Given the description of an element on the screen output the (x, y) to click on. 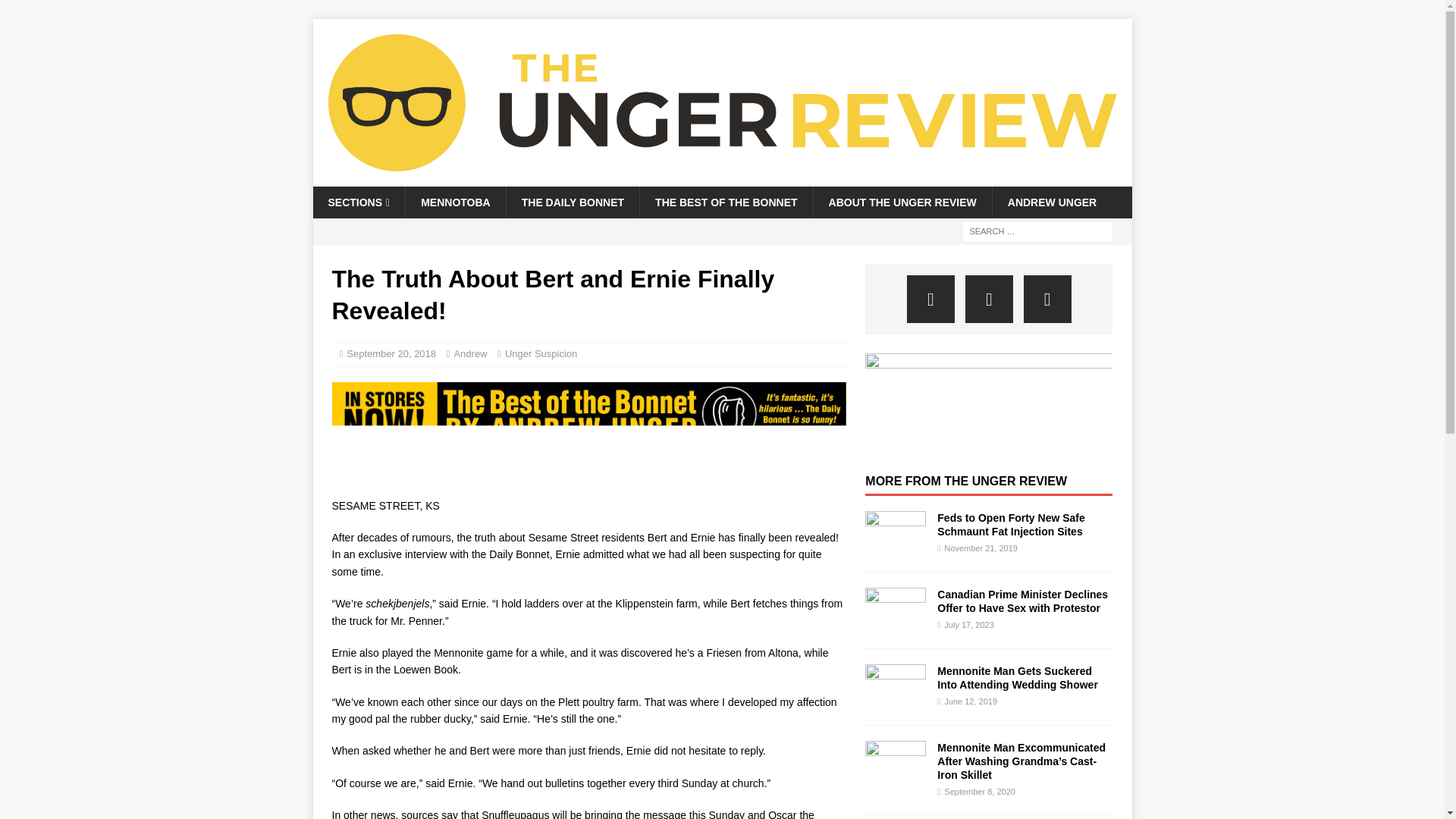
MENNOTOBA (454, 202)
ANDREW UNGER (1051, 202)
SECTIONS (358, 202)
Unger Suspicion (540, 353)
ABOUT THE UNGER REVIEW (901, 202)
Andrew (469, 353)
September 20, 2018 (390, 353)
THE BEST OF THE BONNET (725, 202)
Search (56, 11)
THE DAILY BONNET (572, 202)
